Given the description of an element on the screen output the (x, y) to click on. 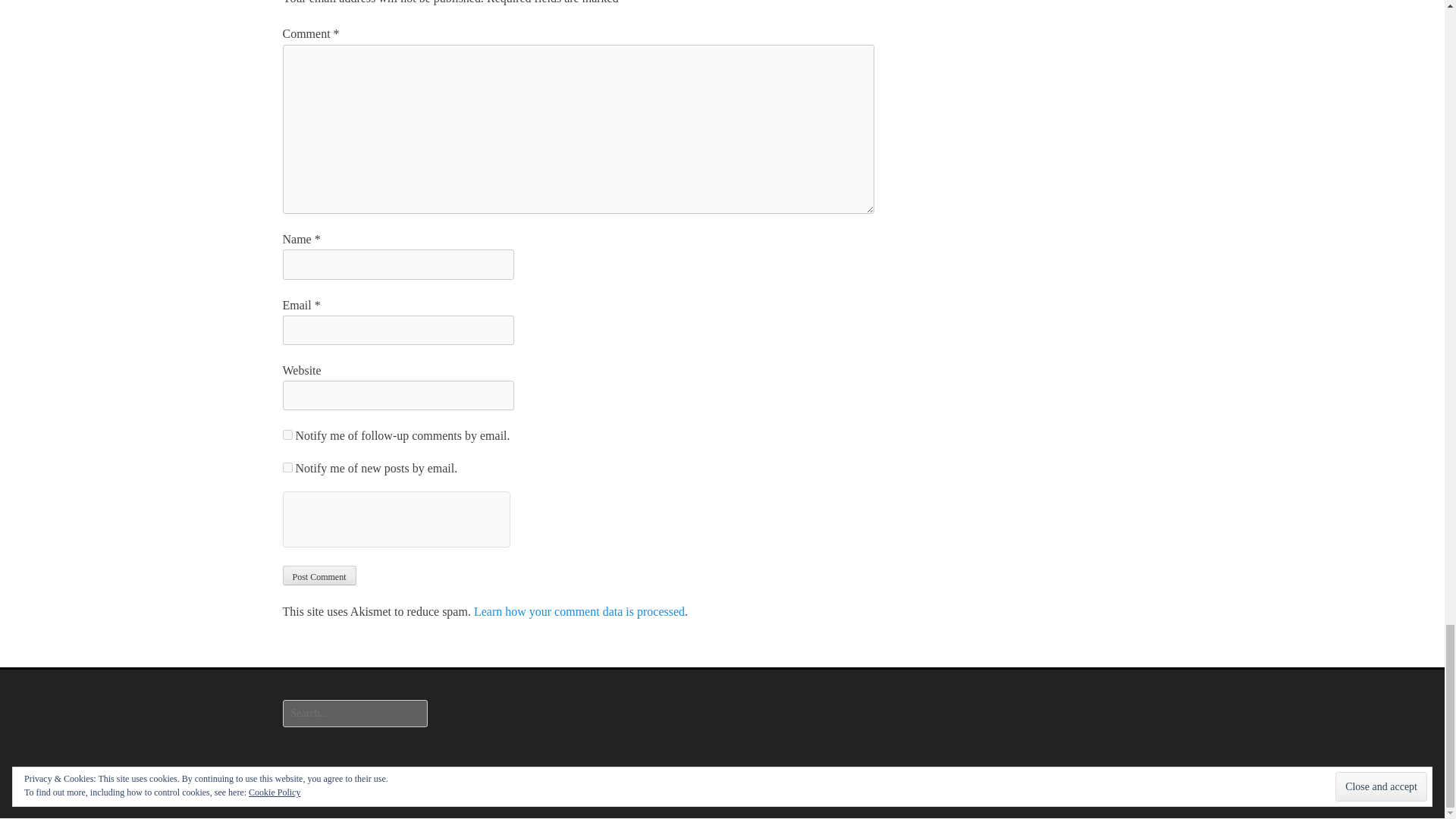
subscribe (287, 467)
Post Comment (318, 575)
Search for: (354, 713)
subscribe (287, 434)
